Given the description of an element on the screen output the (x, y) to click on. 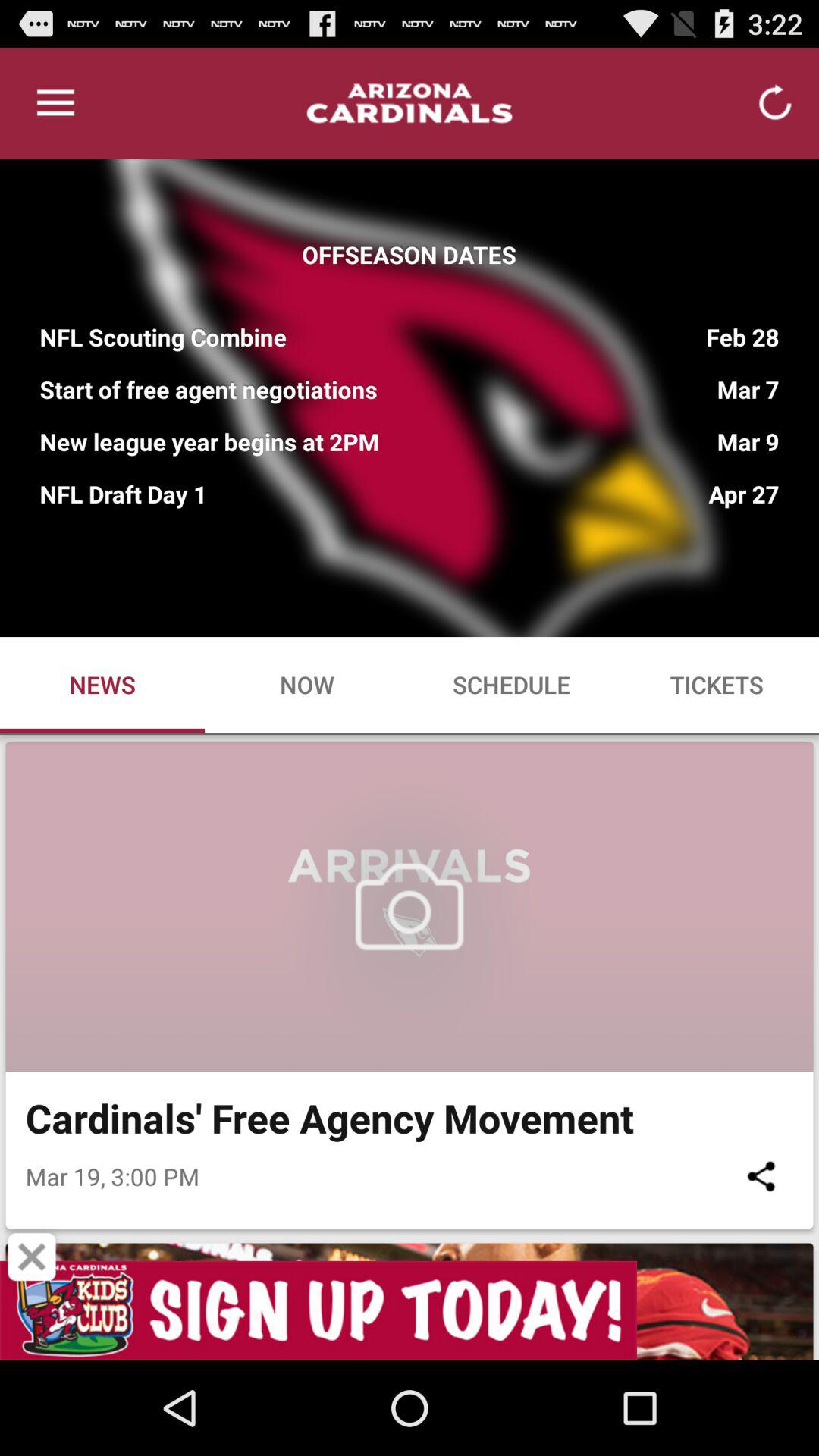
cancel (31, 1256)
